Given the description of an element on the screen output the (x, y) to click on. 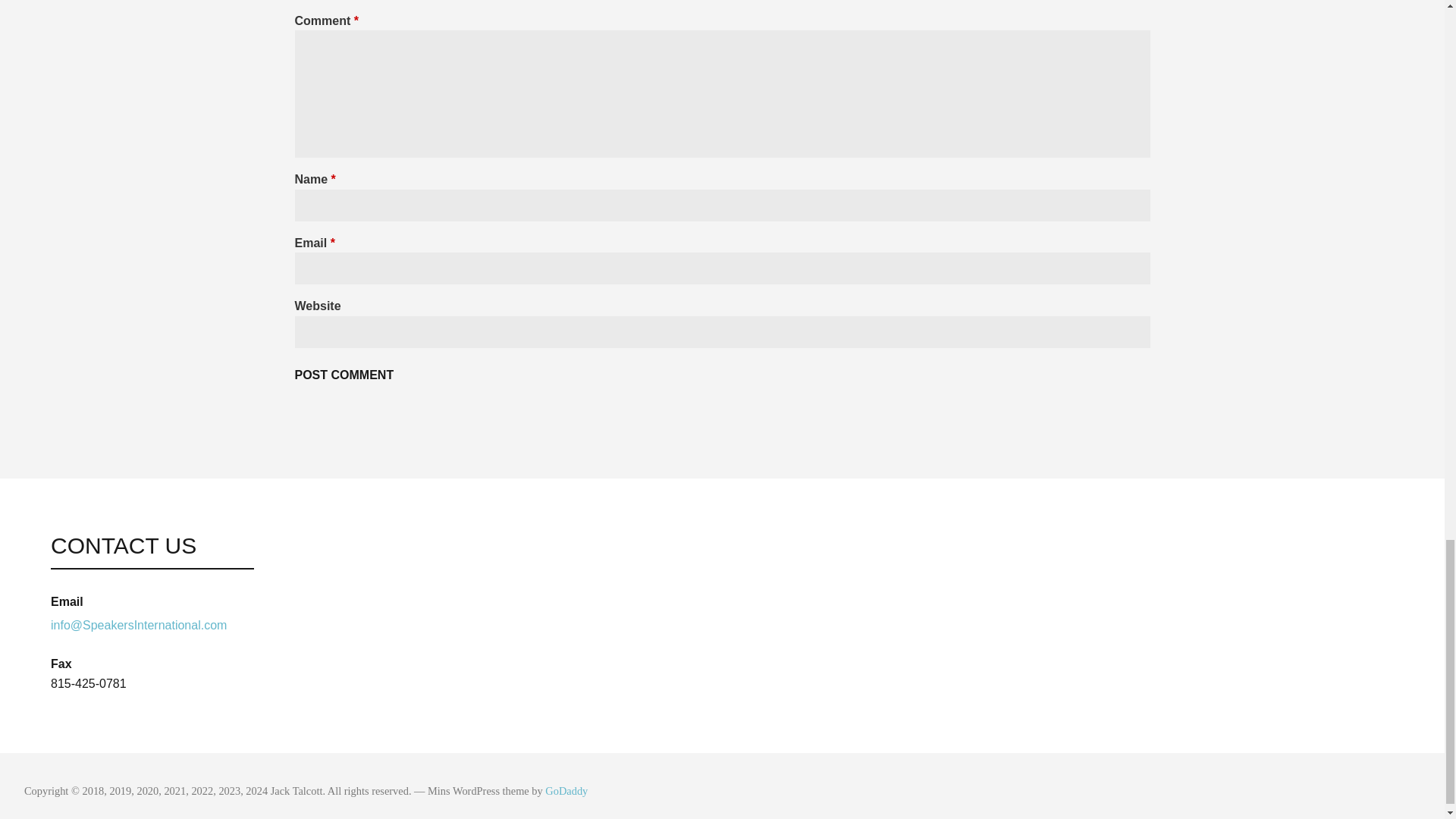
Post Comment (343, 375)
GoDaddy (566, 790)
Post Comment (343, 375)
